Given the description of an element on the screen output the (x, y) to click on. 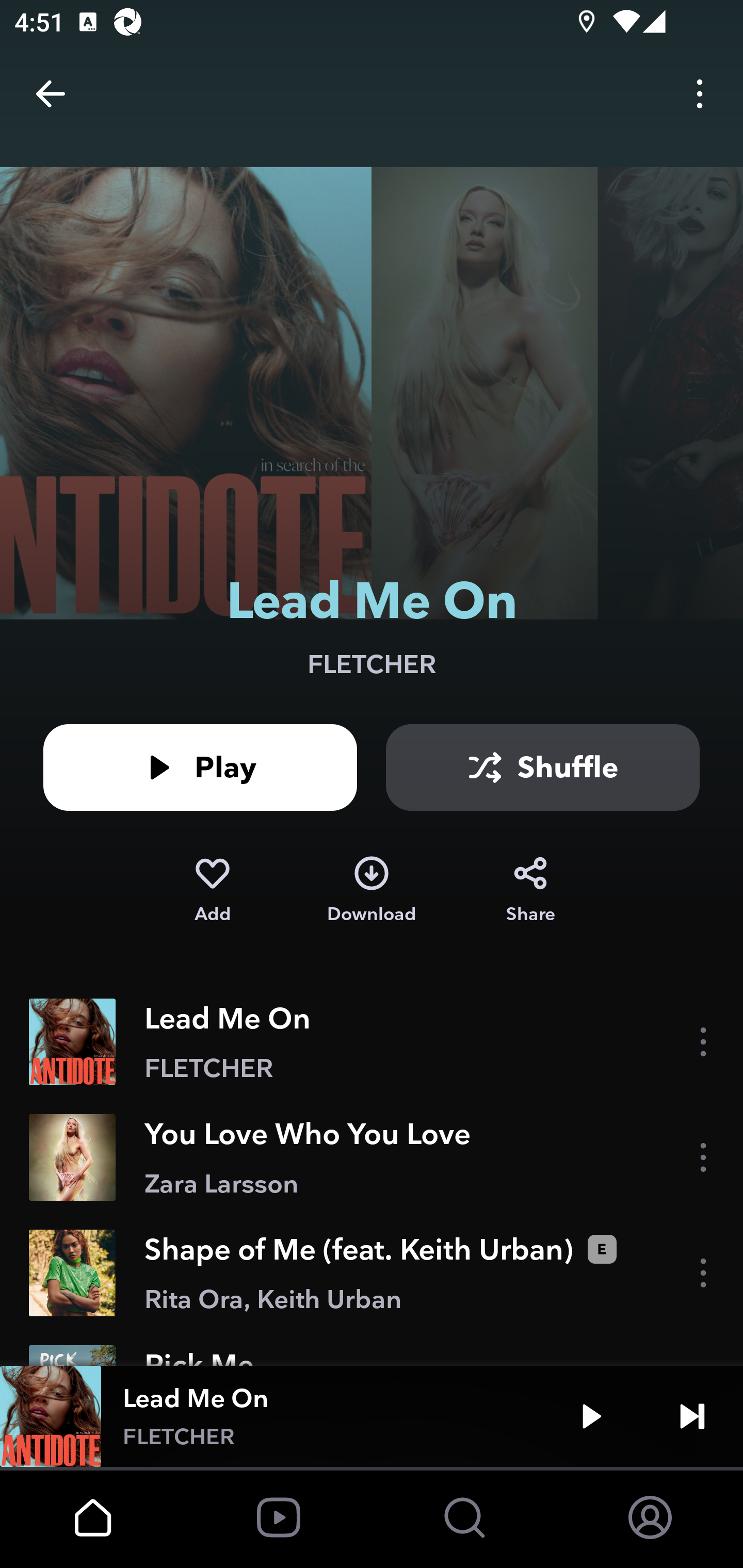
Options (699, 93)
Play (200, 767)
Shuffle (542, 767)
Add (211, 890)
Download (371, 890)
Share (530, 890)
Lead Me On FLETCHER (371, 1041)
You Love Who You Love Zara Larsson (371, 1157)
Lead Me On FLETCHER Play (371, 1416)
Play (590, 1416)
